Given the description of an element on the screen output the (x, y) to click on. 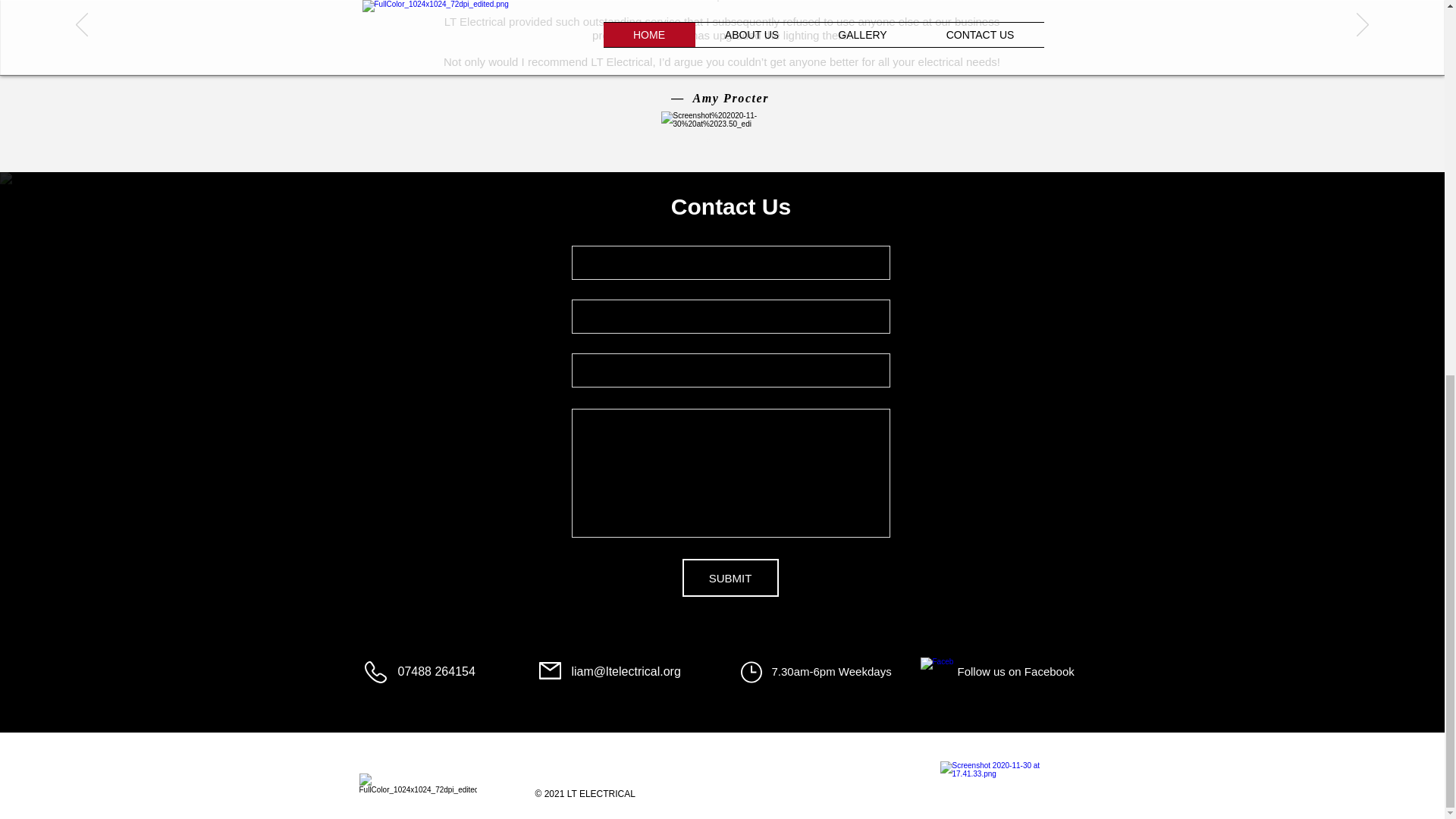
07488 264154 (435, 671)
7.30am-6pm Weekdays (831, 671)
SUBMIT (730, 577)
Follow us on Facebook (1015, 671)
